Given the description of an element on the screen output the (x, y) to click on. 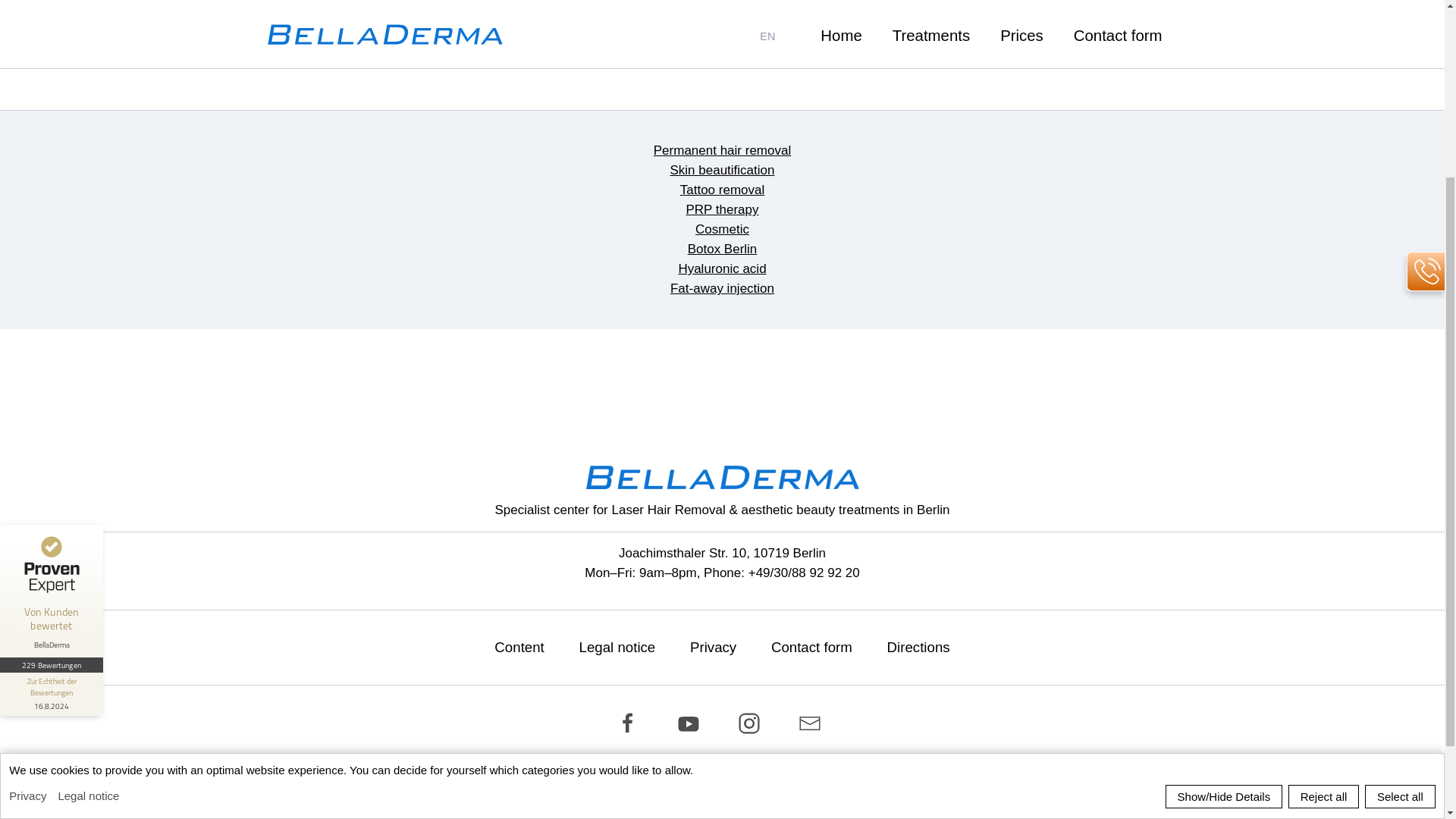
Vorherige Kundenstimme (213, 388)
BellaDerma on Youtube (691, 722)
BellaDerma on Instagram (751, 722)
Page as email recommendation (812, 722)
BellaDerma on Facebook (630, 722)
Zur Echtheit der Bewertungen (51, 454)
